Given the description of an element on the screen output the (x, y) to click on. 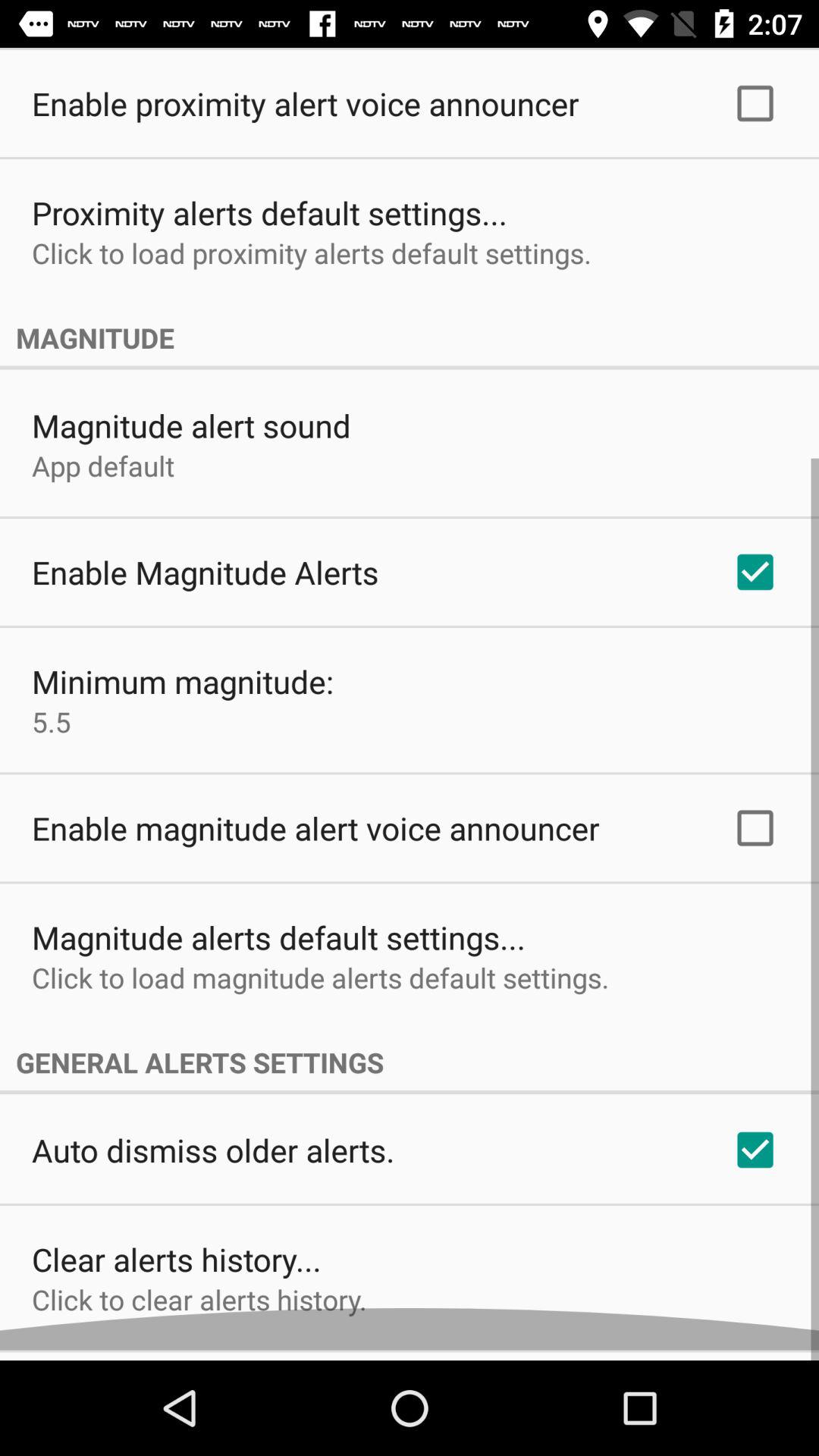
open the app above enable magnitude alert app (51, 731)
